Given the description of an element on the screen output the (x, y) to click on. 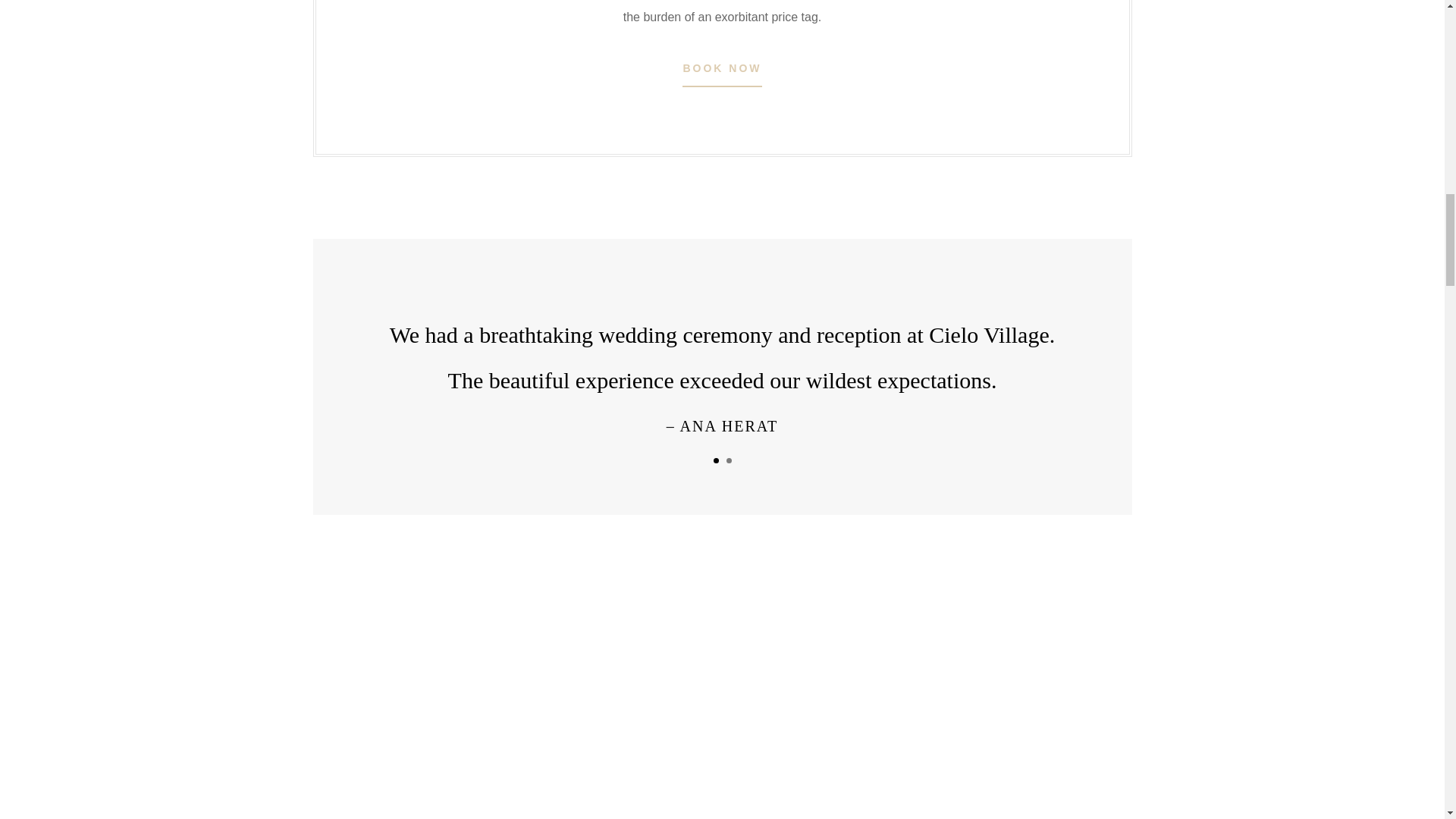
BOOK NOW (721, 68)
2 (729, 460)
